Given the description of an element on the screen output the (x, y) to click on. 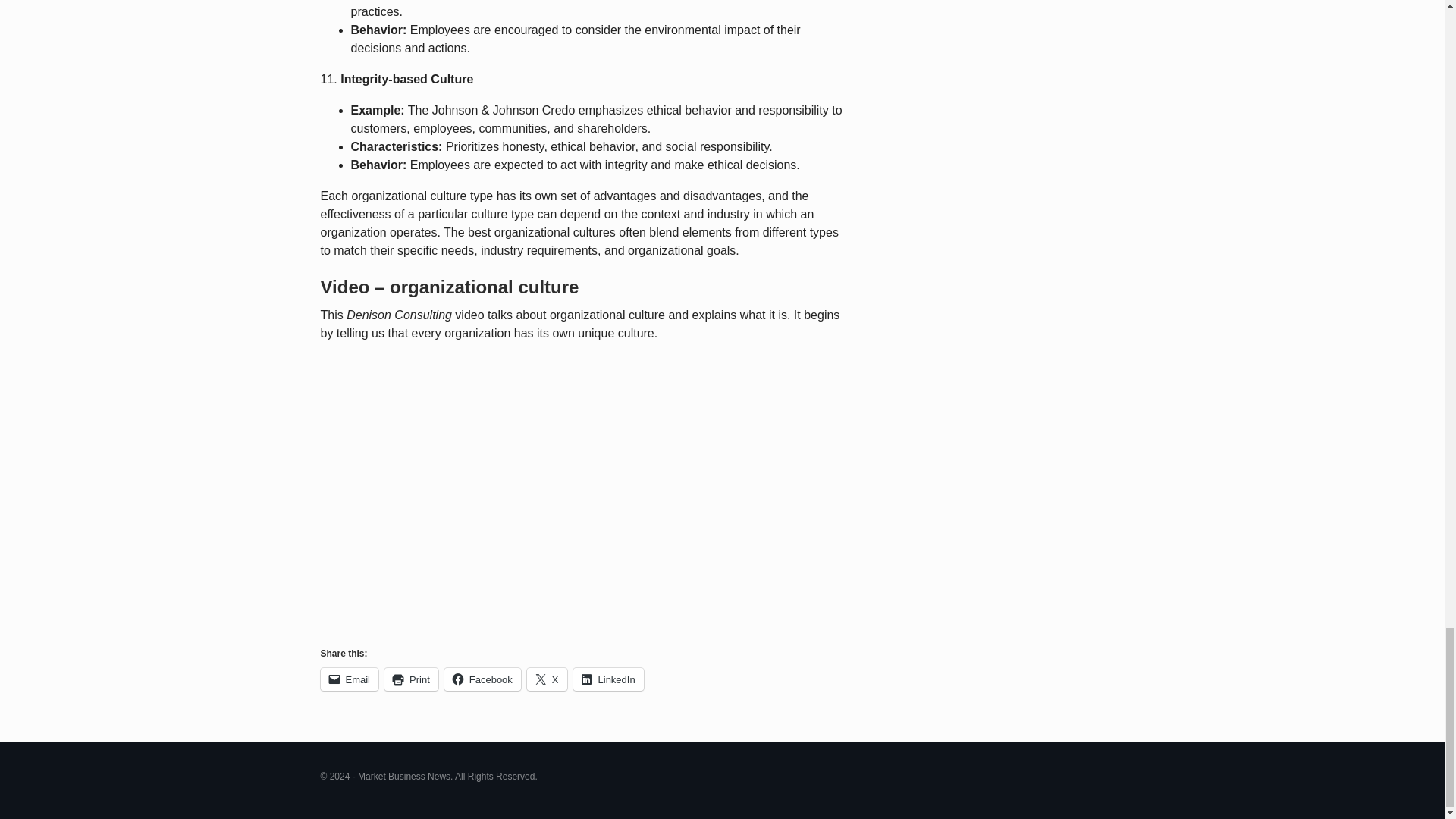
LinkedIn (608, 679)
Facebook (482, 679)
X (547, 679)
Click to share on Facebook (482, 679)
Click to email a link to a friend (349, 679)
Print (411, 679)
Click to share on X (547, 679)
Click to share on LinkedIn (608, 679)
Email (349, 679)
Click to print (411, 679)
